Given the description of an element on the screen output the (x, y) to click on. 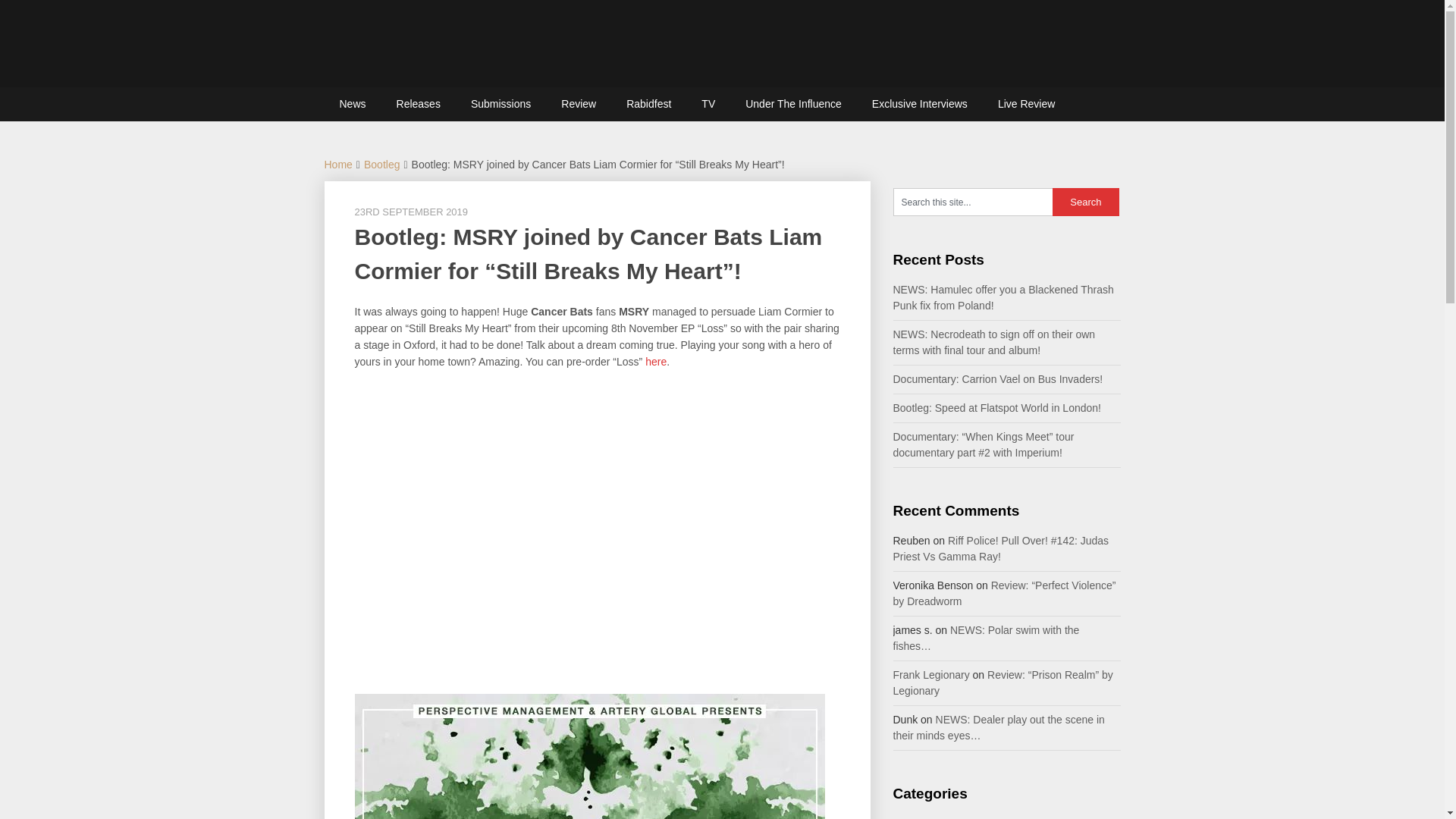
TV (707, 103)
Live Review (1026, 103)
Under The Influence (793, 103)
Releases (418, 103)
Search (1085, 202)
Rabidfest (648, 103)
News (352, 103)
Acoustic (913, 818)
Home (338, 164)
